Given the description of an element on the screen output the (x, y) to click on. 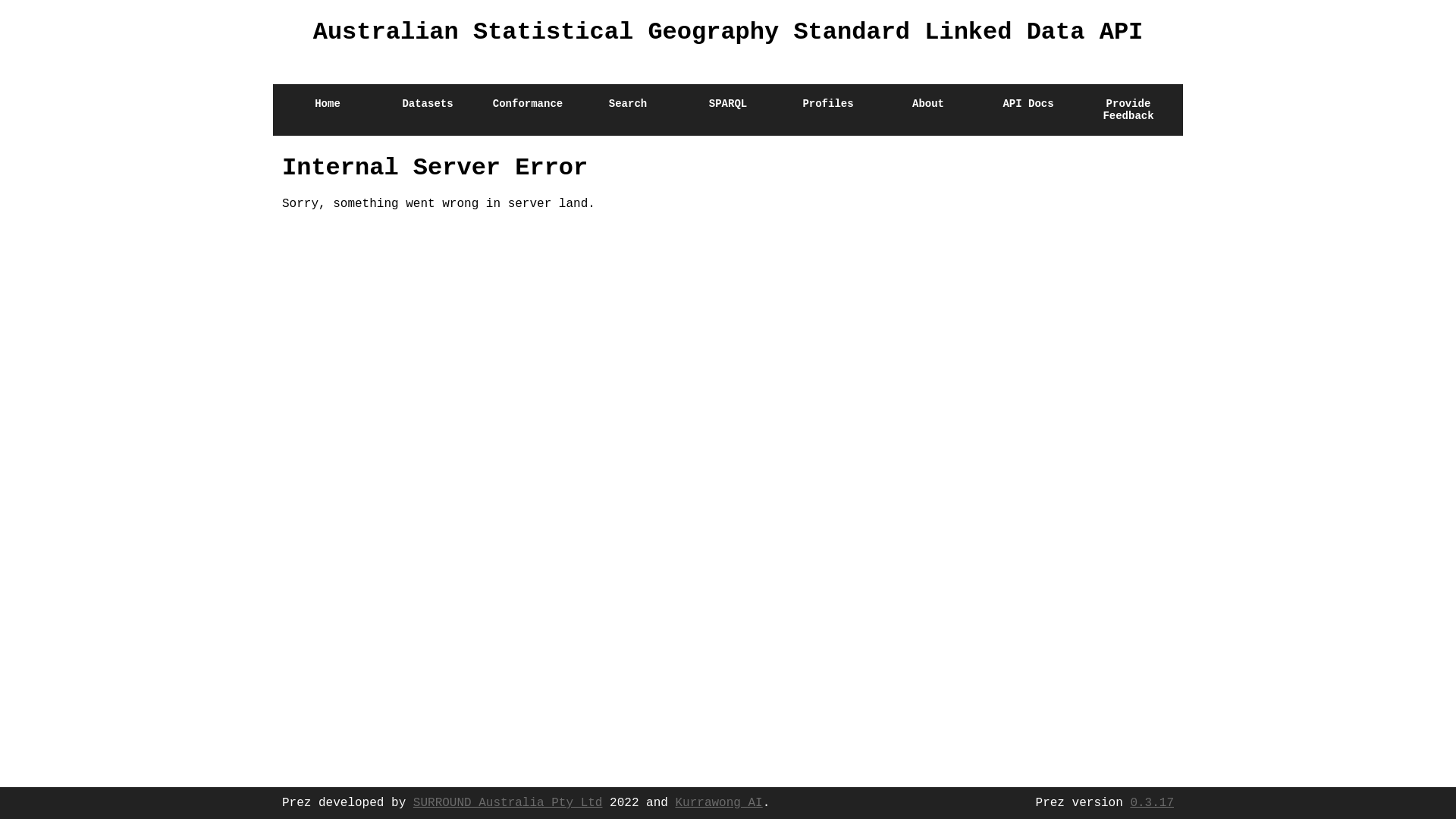
About Element type: text (927, 109)
SPARQL Element type: text (727, 109)
0.3.17 Element type: text (1151, 802)
Search Element type: text (627, 109)
Provide Feedback Element type: text (1127, 109)
Conformance Element type: text (527, 109)
Kurrawong AI Element type: text (718, 802)
Home Element type: text (288, 74)
Datasets Element type: text (427, 109)
API Docs Element type: text (1027, 109)
Home Element type: text (327, 109)
SURROUND Australia Pty Ltd Element type: text (507, 802)
Profiles Element type: text (827, 109)
